Given the description of an element on the screen output the (x, y) to click on. 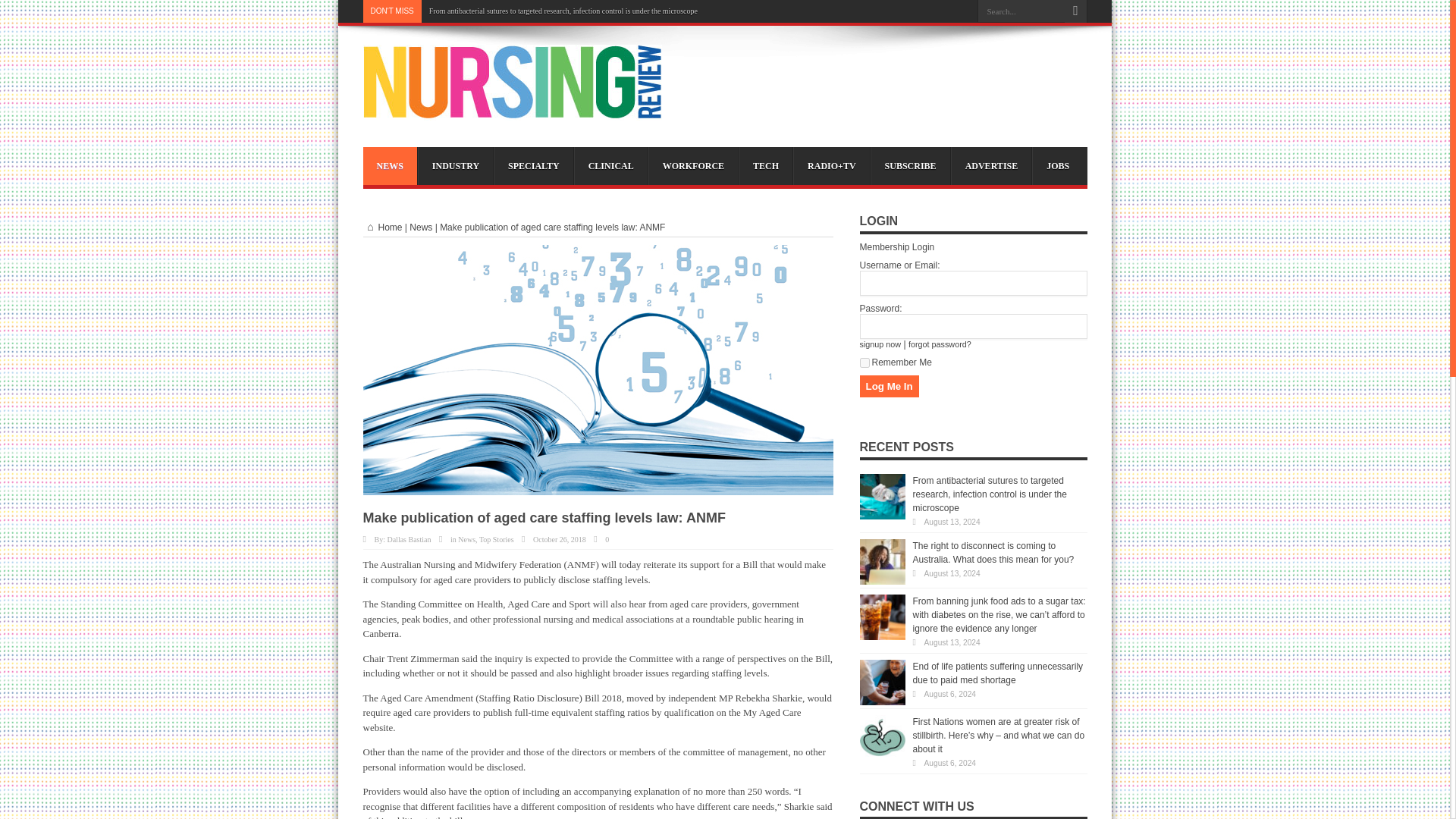
Search... (1020, 11)
CLINICAL (610, 166)
Username (973, 283)
SUBSCRIBE (910, 166)
Home (381, 226)
forever (864, 362)
Nursing Review (511, 109)
